Given the description of an element on the screen output the (x, y) to click on. 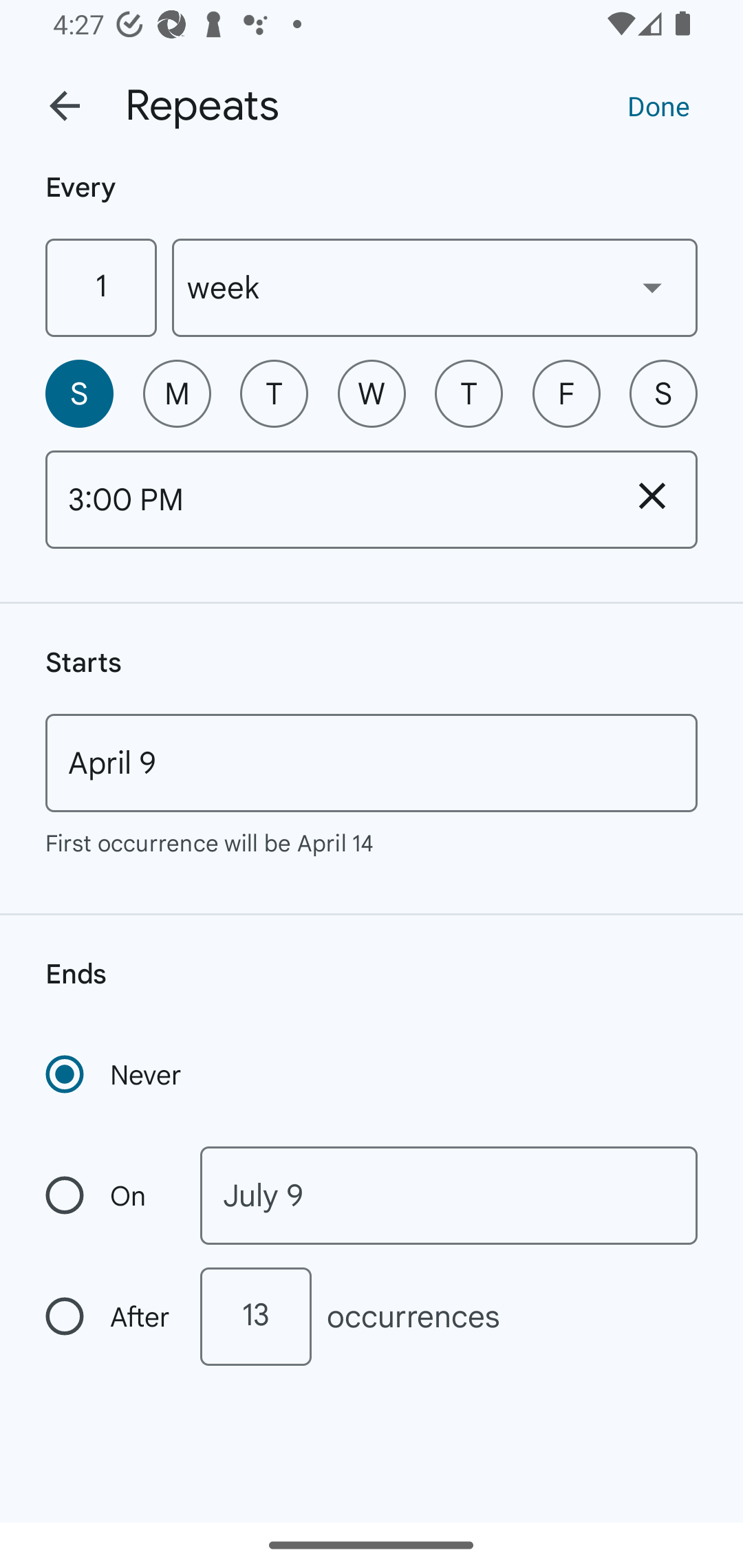
Back (64, 105)
Done (658, 105)
1 (100, 287)
week (434, 287)
Show dropdown menu (652, 286)
S Sunday, selected (79, 393)
M Monday (177, 393)
T Tuesday (273, 393)
W Wednesday (371, 393)
T Thursday (468, 393)
F Friday (566, 393)
S Saturday (663, 393)
3:00 PM (326, 499)
Remove 3:00 PM (652, 495)
April 9 (371, 762)
Never Recurrence never ends (115, 1074)
July 9 (448, 1195)
On Recurrence ends on a specific date (109, 1195)
13 (255, 1315)
